Given the description of an element on the screen output the (x, y) to click on. 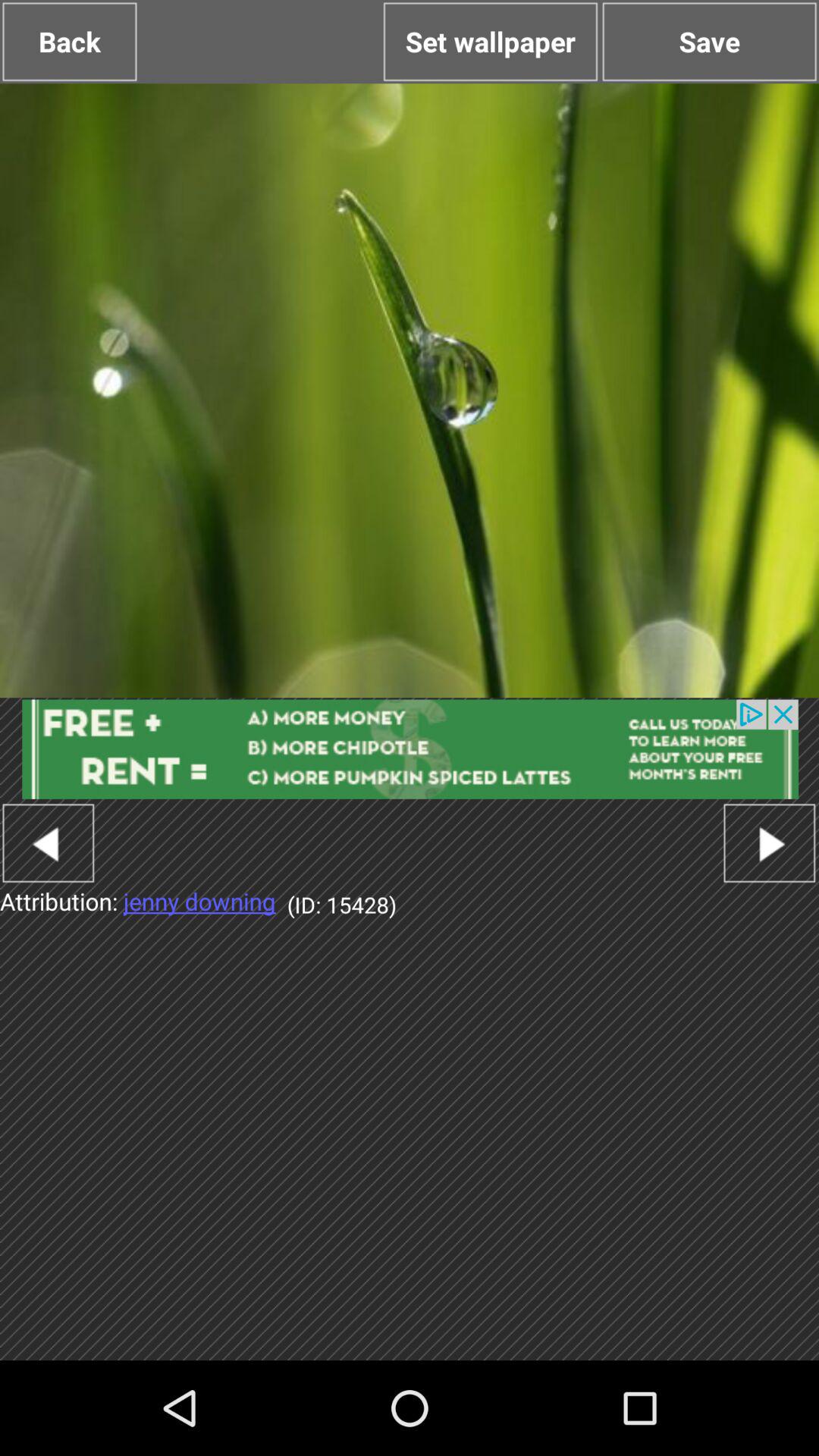
go to next (769, 842)
